Given the description of an element on the screen output the (x, y) to click on. 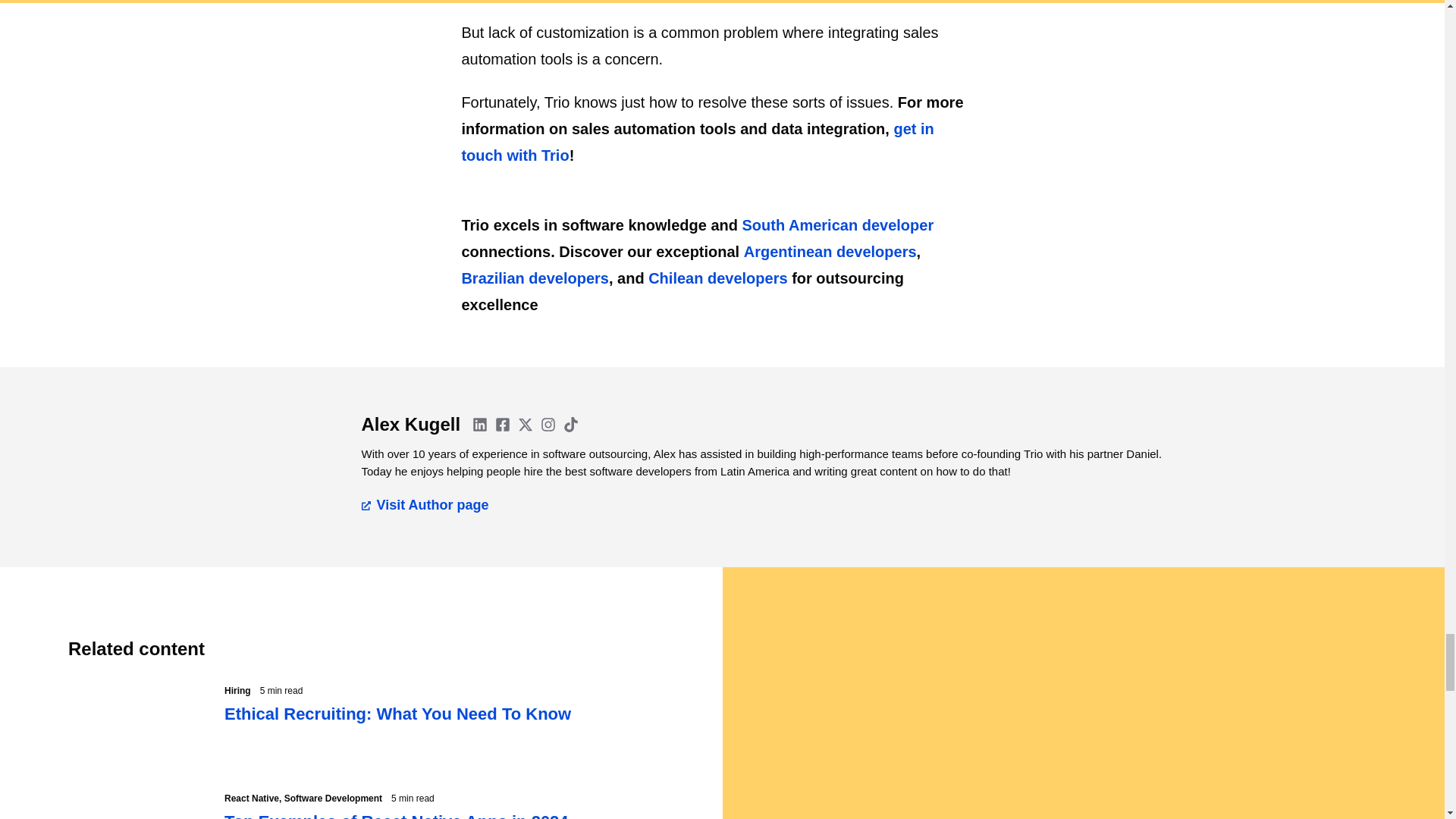
Chilean developers (717, 278)
South American developer (838, 225)
Brazilian developers (534, 278)
get in touch with Trio (697, 141)
Argentinean developers (830, 251)
